Given the description of an element on the screen output the (x, y) to click on. 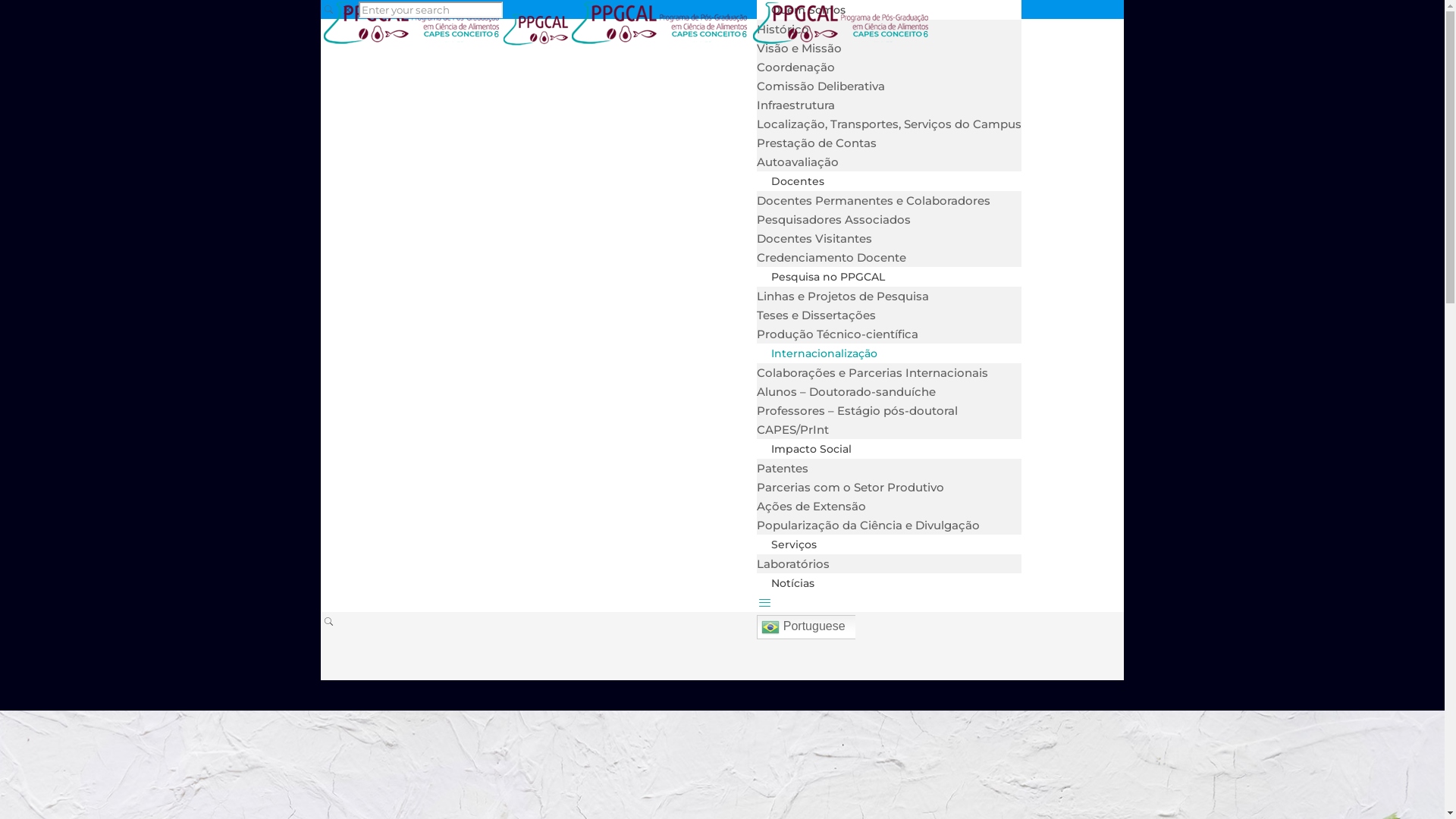
CAPES/PrInt Element type: text (792, 429)
Impacto Social Element type: text (811, 448)
Linhas e Projetos de Pesquisa Element type: text (842, 295)
Infraestrutura Element type: text (795, 104)
Credenciamento Docente Element type: text (831, 257)
Parcerias com o Setor Produtivo Element type: text (850, 487)
Pesquisa no PPGCAL Element type: text (827, 276)
Portuguese Element type: text (822, 627)
Docentes Permanentes e Colaboradores Element type: text (873, 200)
Pesquisadores Associados Element type: text (833, 219)
Docentes Element type: text (797, 181)
Patentes Element type: text (782, 468)
Docentes Visitantes Element type: text (814, 238)
